Given the description of an element on the screen output the (x, y) to click on. 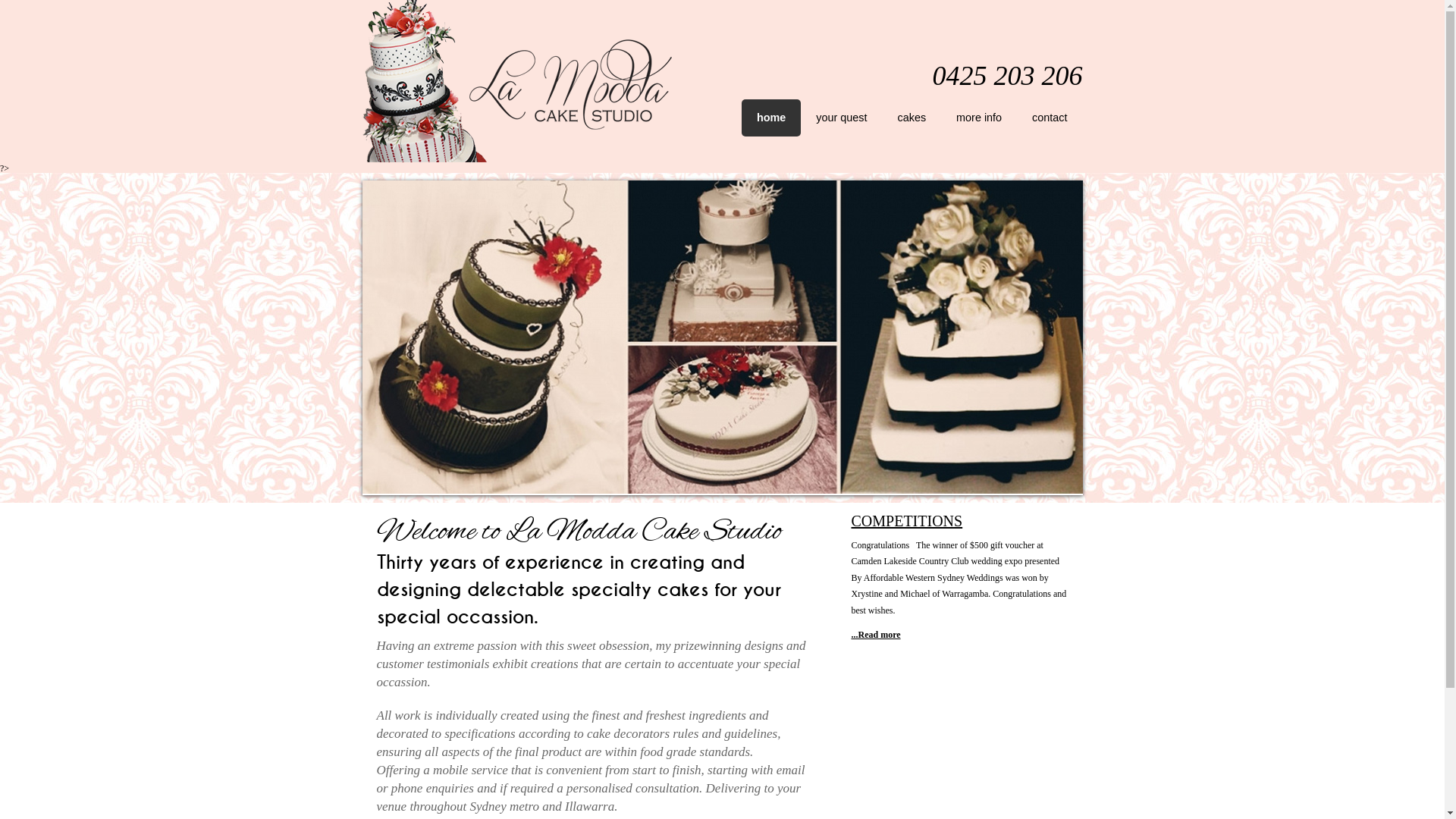
COMPETITIONS Element type: text (906, 520)
play for free online pokies Element type: text (857, 295)
virtual pokies to win real money Element type: text (1093, 240)
party poker au friendly Element type: text (296, 240)
home Element type: text (770, 117)
contact Element type: text (1049, 117)
gambling licence application au Element type: text (704, 313)
...Read more Element type: text (875, 634)
more info Element type: text (978, 117)
online au casino slots Element type: text (79, 204)
play pokies in australia for money Element type: text (1031, 186)
cakes Element type: text (911, 117)
online au casino bonus codes Element type: text (379, 322)
your quest Element type: text (840, 117)
australia s best popular pokies 2022 Element type: text (120, 186)
progressive pokies online real money Element type: text (693, 304)
live casino in australia Element type: text (1065, 249)
